Given the description of an element on the screen output the (x, y) to click on. 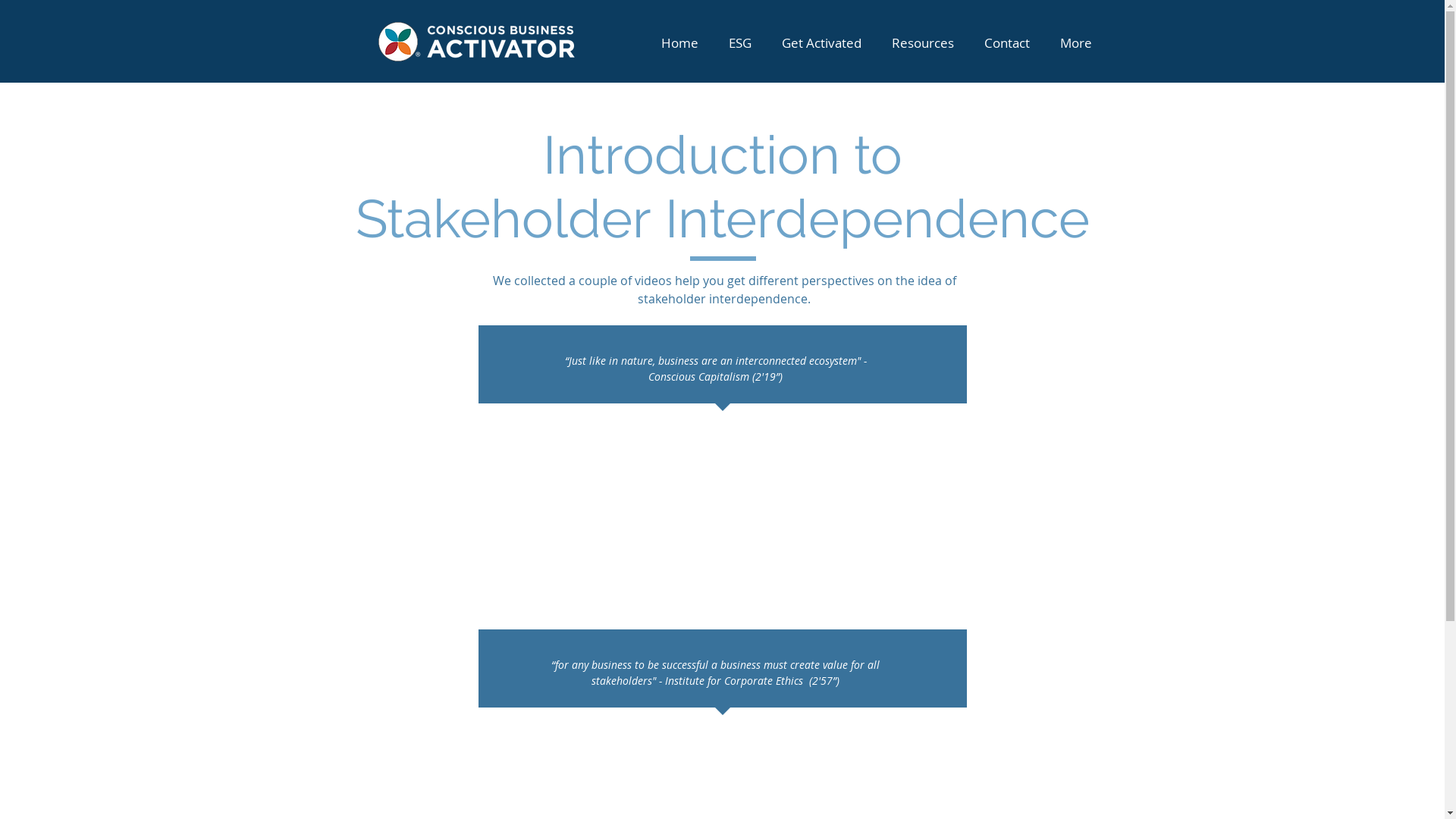
Home Element type: text (679, 42)
Contact Element type: text (1006, 42)
Get Activated Element type: text (820, 42)
Resources Element type: text (922, 42)
ESG Element type: text (738, 42)
